Given the description of an element on the screen output the (x, y) to click on. 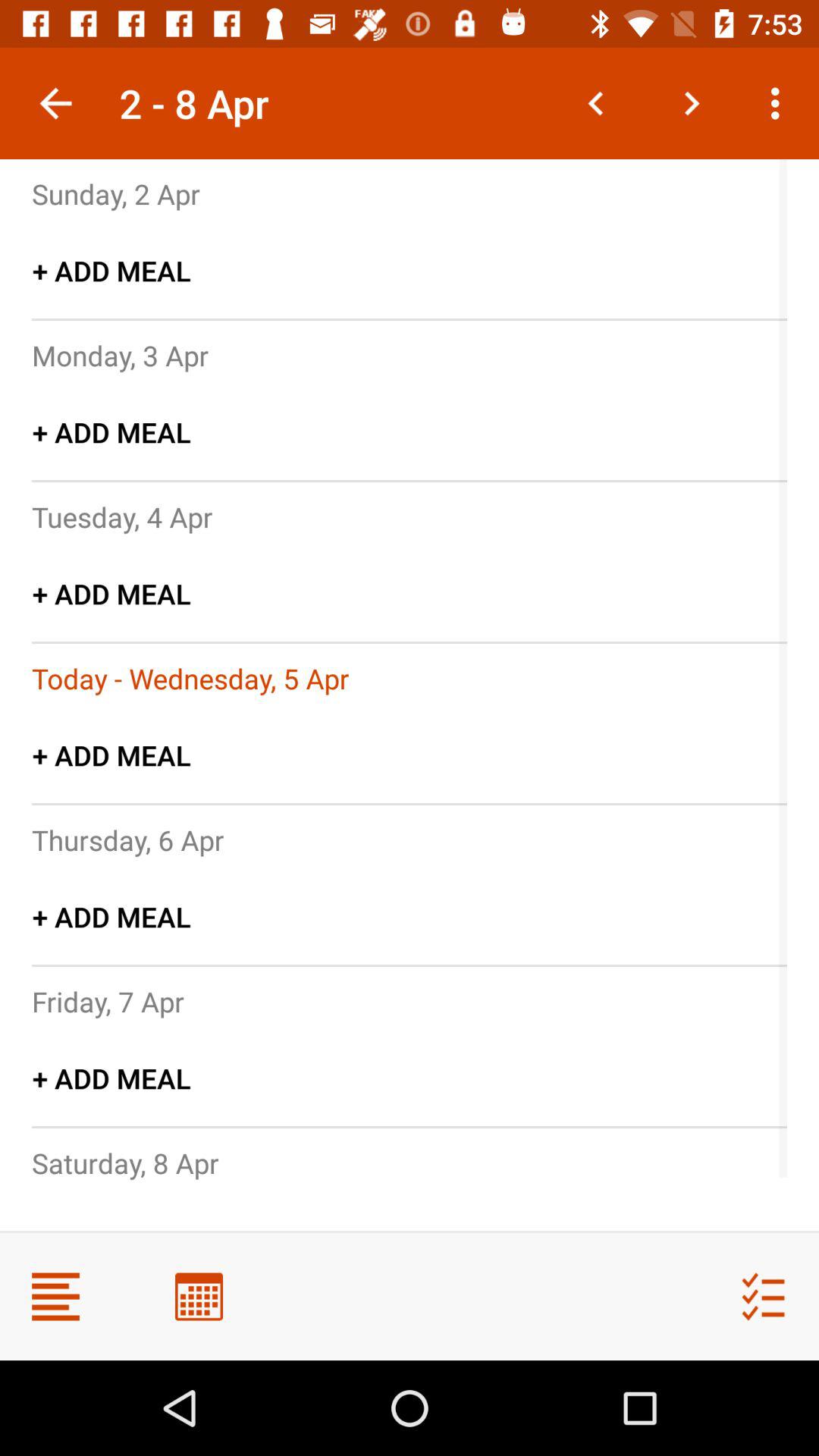
turn on item above + add meal item (127, 839)
